Given the description of an element on the screen output the (x, y) to click on. 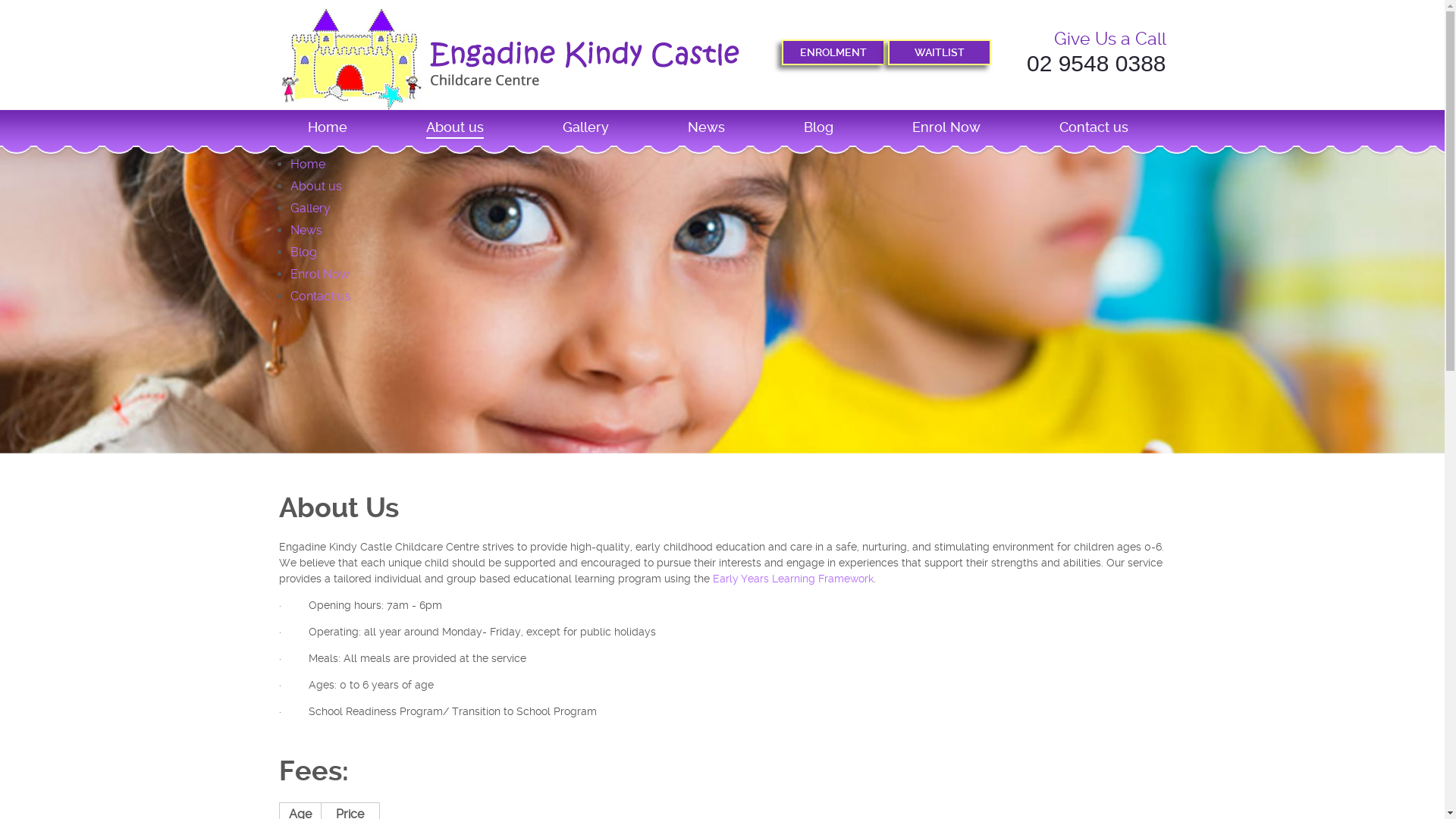
News Element type: text (305, 229)
Gallery Element type: text (585, 132)
Gallery Element type: text (309, 207)
Home Element type: text (306, 163)
Blog Element type: text (818, 132)
Home Element type: text (327, 132)
Blog Element type: text (302, 251)
ENROLMENT Element type: text (832, 52)
Enrol Now Element type: text (945, 132)
About us Element type: text (315, 185)
Engadine Kindy Castle Element type: hover (509, 58)
Contact us Element type: text (1092, 132)
News Element type: text (705, 132)
WAITLIST Element type: text (939, 52)
About us Element type: text (454, 132)
Contact us Element type: text (319, 295)
Enrol Now Element type: text (318, 273)
Early Years Learning Framework Element type: text (792, 578)
